Given the description of an element on the screen output the (x, y) to click on. 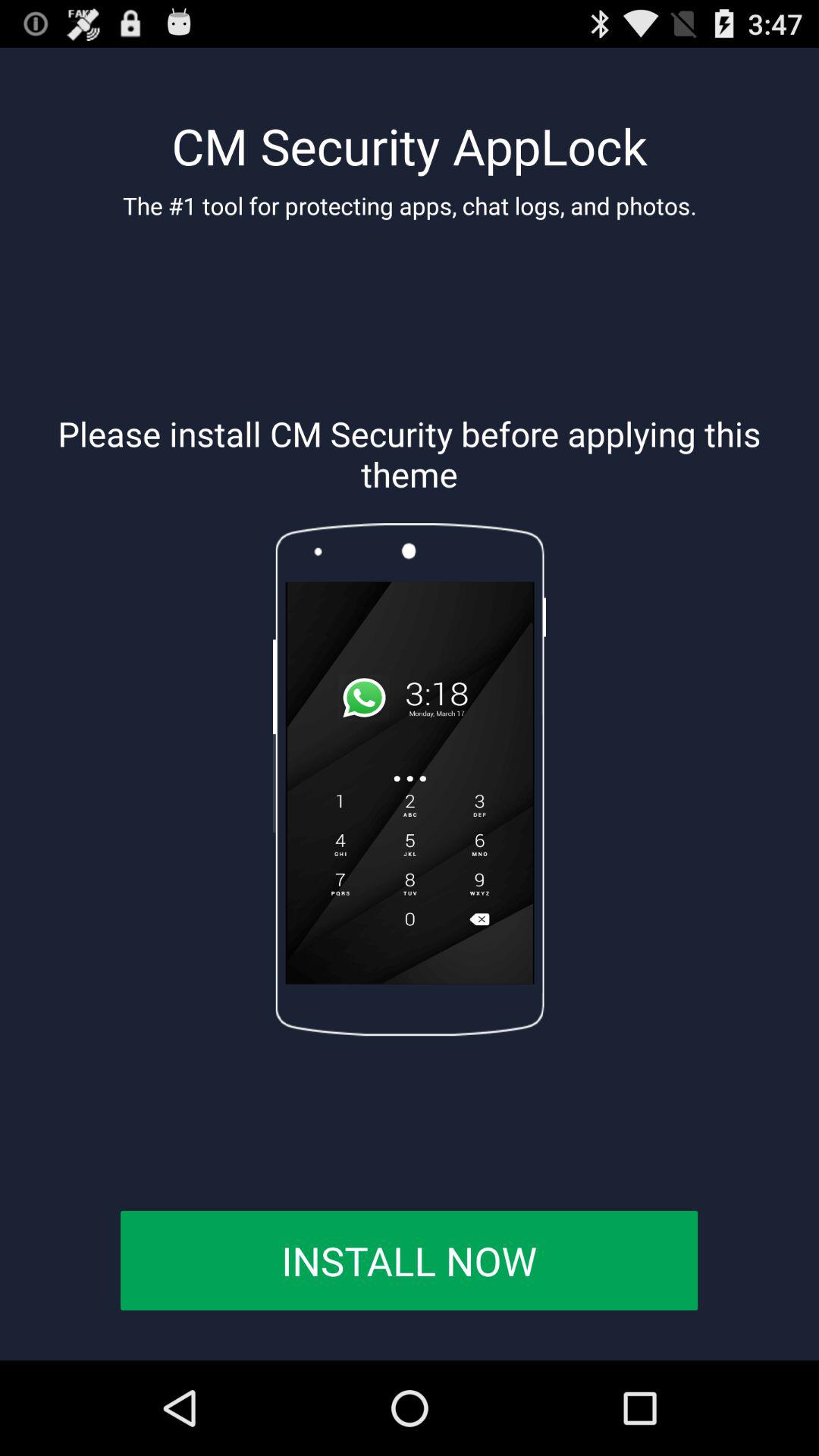
open the button at the bottom (408, 1260)
